Given the description of an element on the screen output the (x, y) to click on. 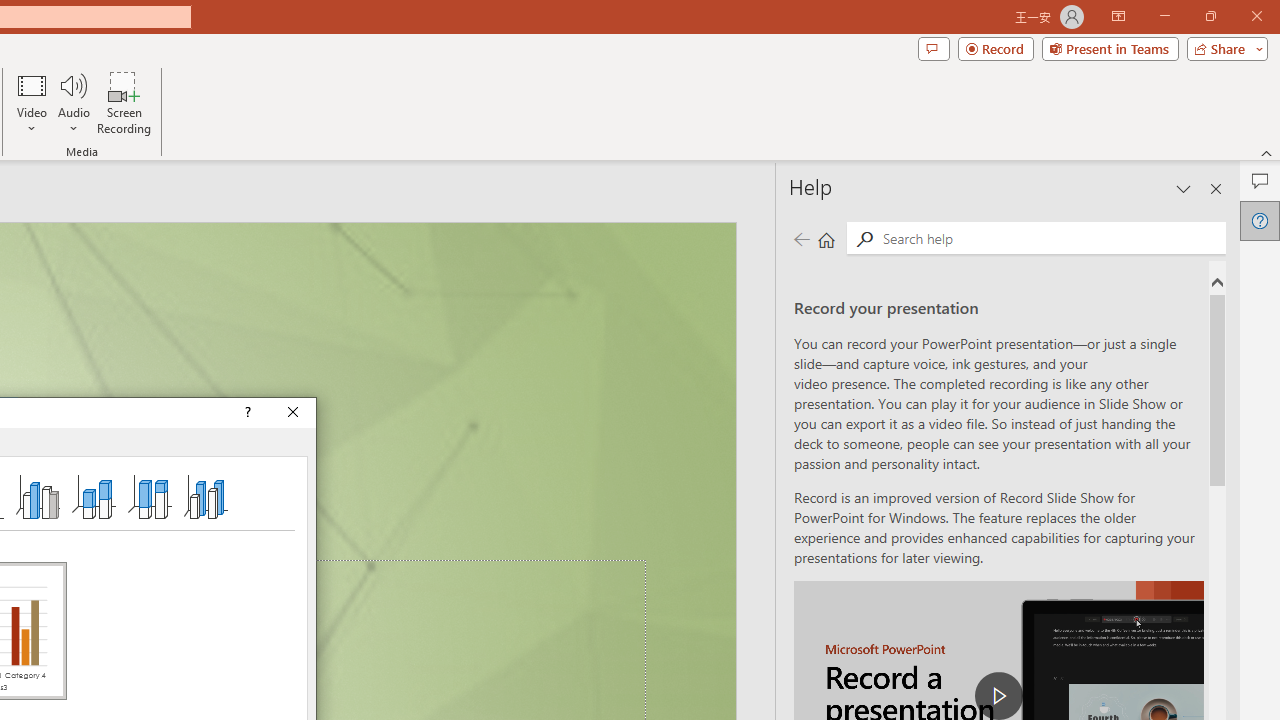
3-D Column (205, 496)
Context help (246, 412)
3-D Clustered Column (38, 496)
